Given the description of an element on the screen output the (x, y) to click on. 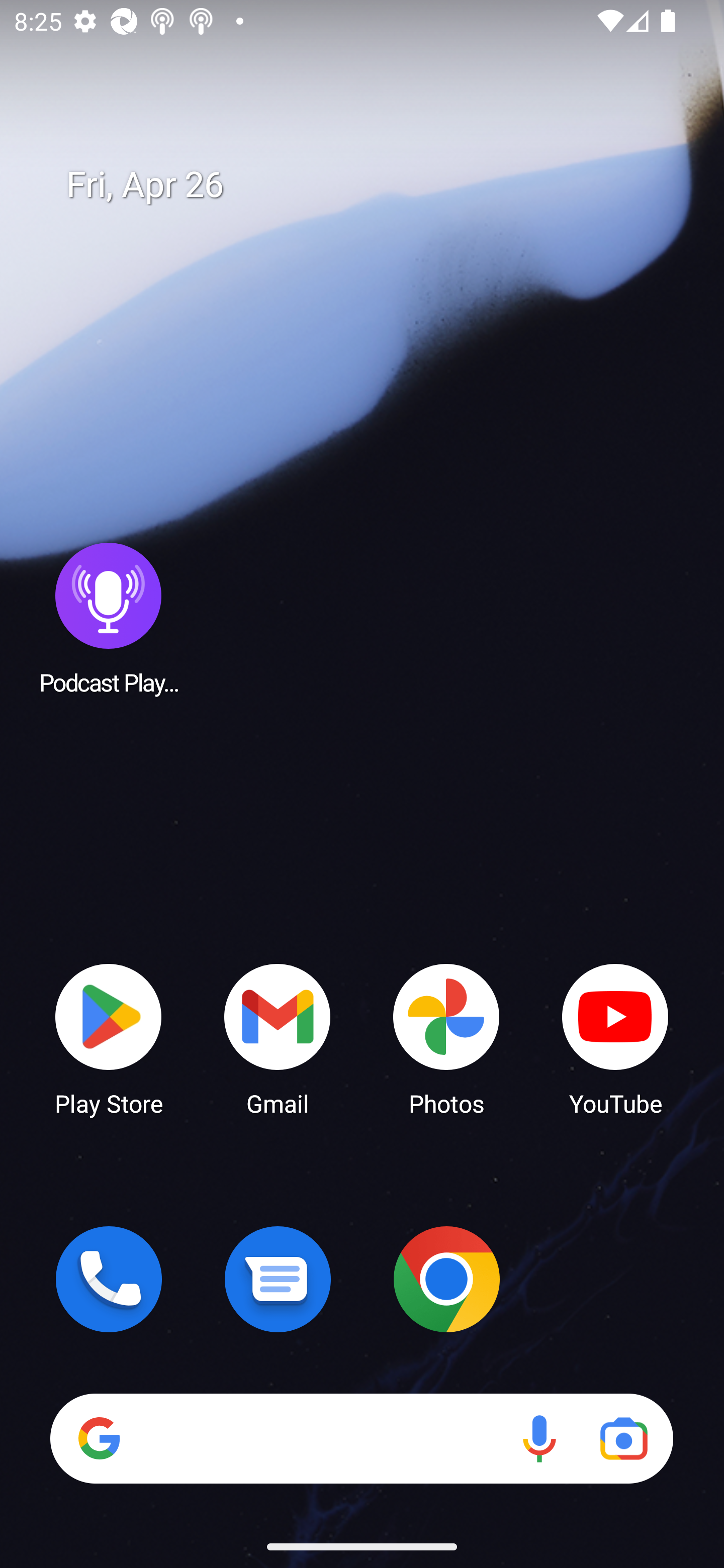
Fri, Apr 26 (375, 184)
Podcast Player (108, 617)
Play Store (108, 1038)
Gmail (277, 1038)
Photos (445, 1038)
YouTube (615, 1038)
Phone (108, 1279)
Messages (277, 1279)
Chrome (446, 1279)
Search Voice search Google Lens (361, 1438)
Voice search (539, 1438)
Google Lens (623, 1438)
